Given the description of an element on the screen output the (x, y) to click on. 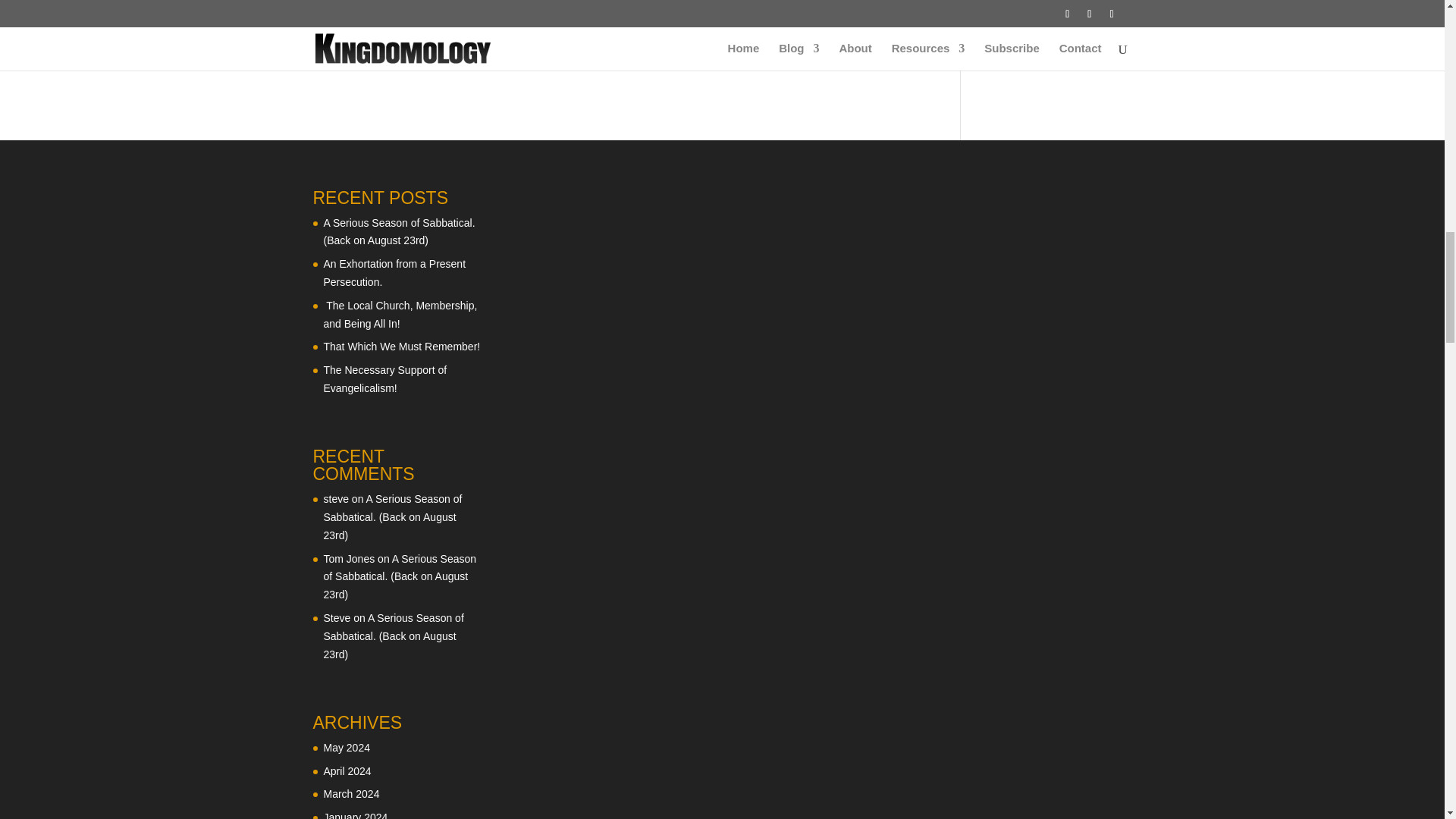
Submit Comment (840, 10)
